Given the description of an element on the screen output the (x, y) to click on. 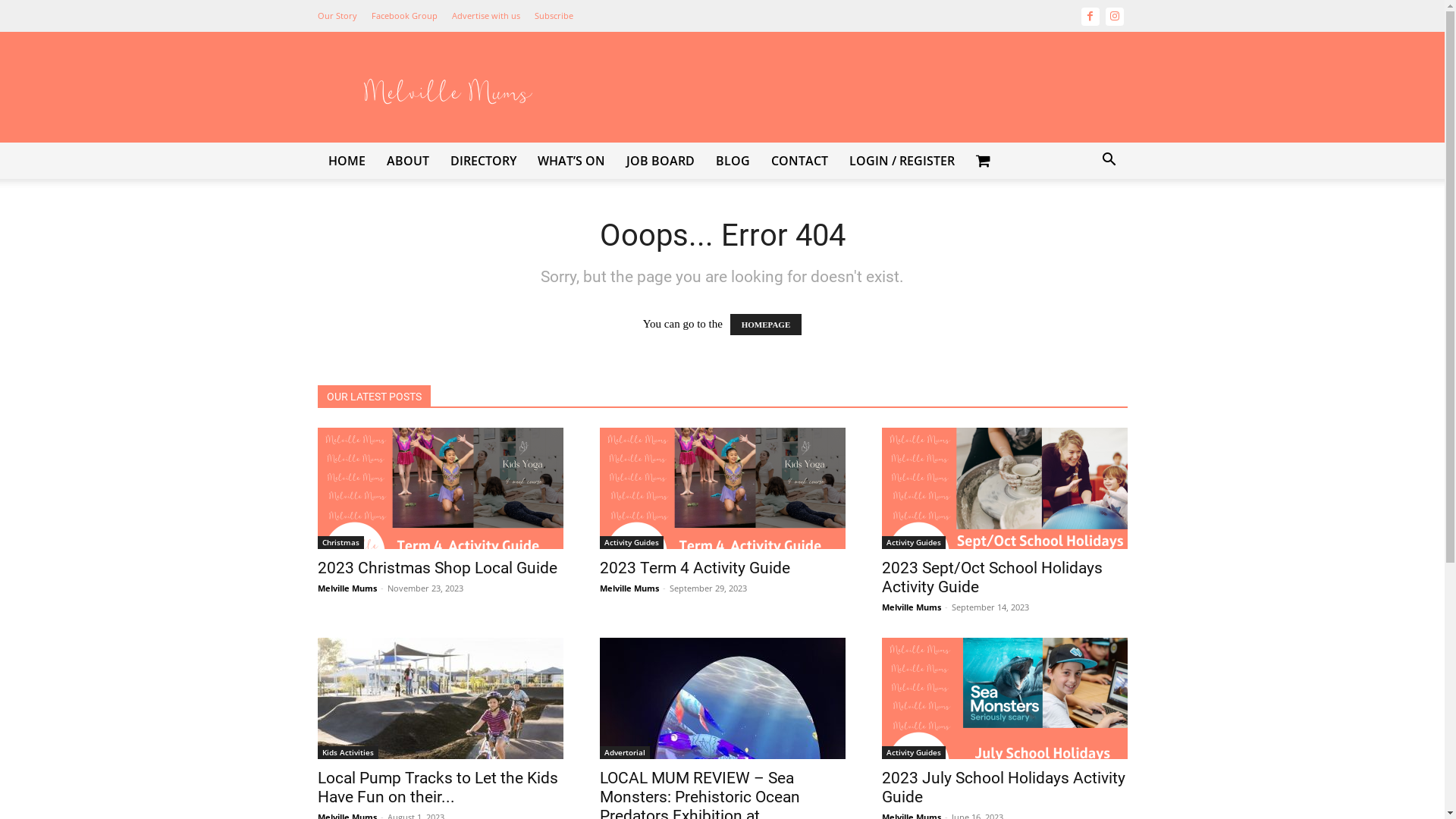
Advertise with us Element type: text (485, 15)
2023 Christmas Shop Local Guide Element type: hover (439, 488)
Activity Guides Element type: text (912, 752)
Activity Guides Element type: text (630, 542)
Melville Mums Element type: text (346, 587)
Instagram Element type: hover (1114, 15)
HOME Element type: text (345, 160)
Melville Mums Element type: text (628, 587)
Facebook Group Element type: text (404, 15)
LOGIN / REGISTER Element type: text (901, 160)
Local Pump Tracks to Let the Kids Have Fun on their... Element type: text (436, 787)
Activity Guides Element type: text (912, 542)
2023 July School Holidays Activity Guide Element type: text (1002, 787)
Christmas Element type: text (339, 542)
CONTACT Element type: text (798, 160)
Subscribe Element type: text (552, 15)
2023 Term 4 Activity Guide Element type: text (694, 567)
Facebook Element type: hover (1090, 15)
2023 Christmas Shop Local Guide Element type: text (436, 567)
Melville Mums Element type: text (910, 606)
2023 Term 4 Activity Guide Element type: hover (721, 488)
BLOG Element type: text (732, 160)
Our Story Element type: text (336, 15)
HOMEPAGE Element type: text (766, 324)
Search Element type: text (1085, 221)
JOB BOARD Element type: text (660, 160)
Local Pump Tracks to Let the Kids Have Fun on their Bikes Element type: hover (439, 698)
DIRECTORY Element type: text (483, 160)
Kids Activities Element type: text (346, 752)
2023 July School Holidays Activity Guide Element type: hover (1003, 698)
ABOUT Element type: text (407, 160)
2023 Sept/Oct School Holidays Activity Guide Element type: text (991, 577)
2023 Sept/Oct School Holidays Activity Guide Element type: hover (1003, 488)
Advertorial Element type: text (624, 752)
Start shopping Element type: hover (984, 160)
